Given the description of an element on the screen output the (x, y) to click on. 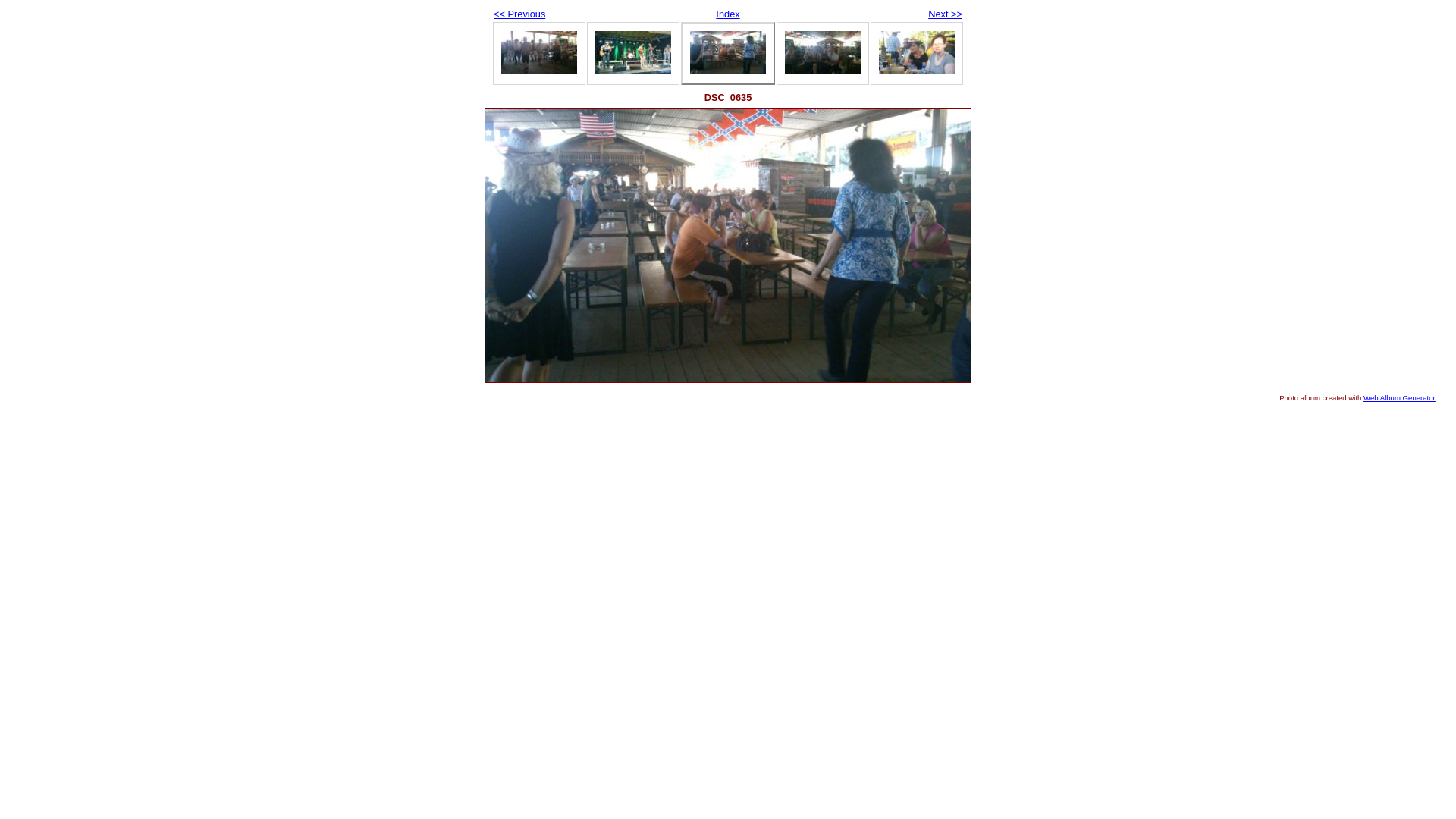
DSC_0635 Element type: hover (727, 52)
<< Previous Element type: text (519, 13)
DSC_0633 Element type: hover (539, 52)
DSC_0637 Element type: hover (822, 52)
Web Album Generator Element type: text (1399, 397)
DSC_0635 Element type: hover (727, 245)
Index Element type: text (727, 13)
DSC_0638 Element type: hover (916, 52)
DSC_0634 Element type: hover (633, 52)
Next >> Element type: text (945, 13)
